Given the description of an element on the screen output the (x, y) to click on. 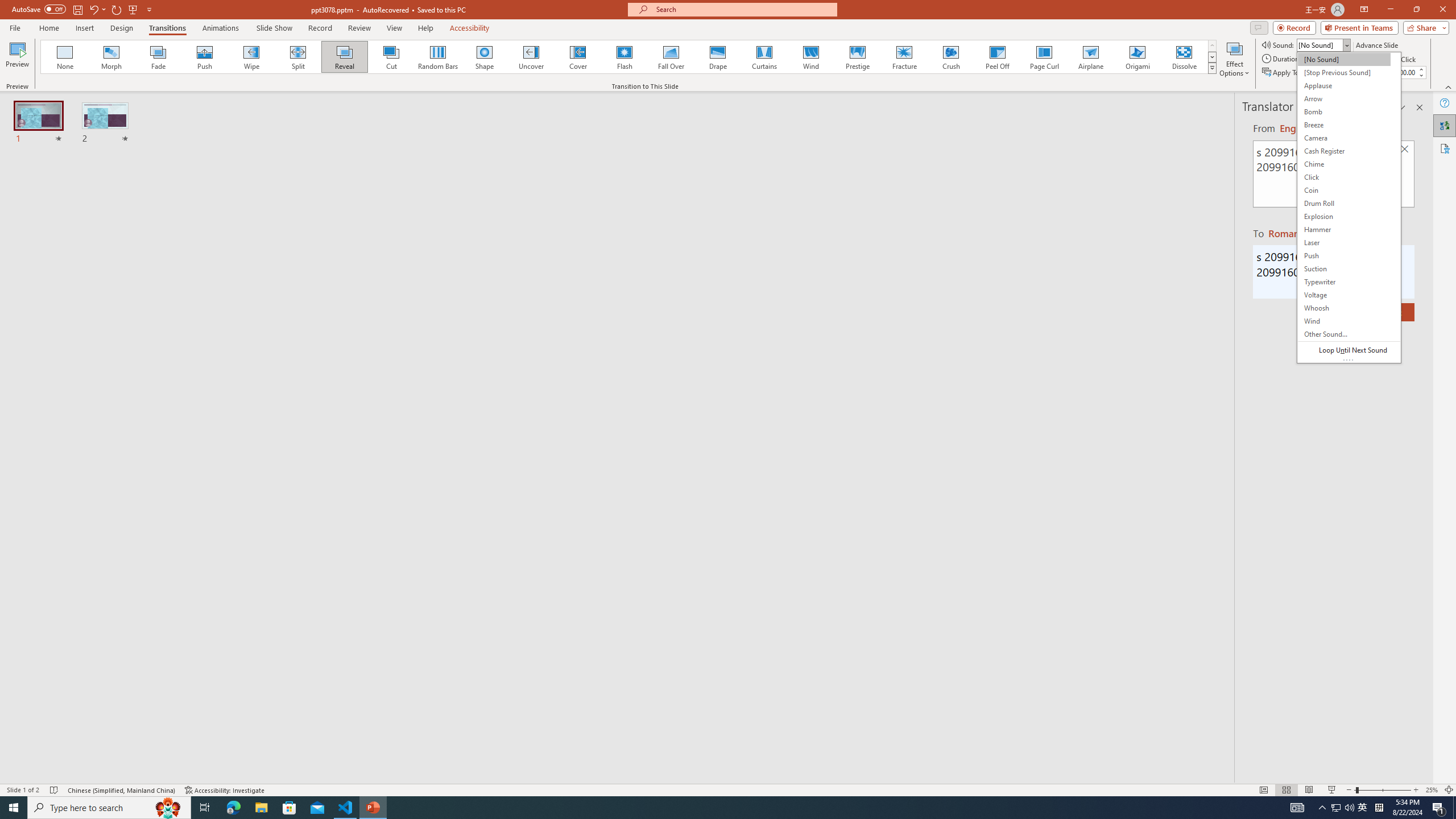
Crush (950, 56)
